Given the description of an element on the screen output the (x, y) to click on. 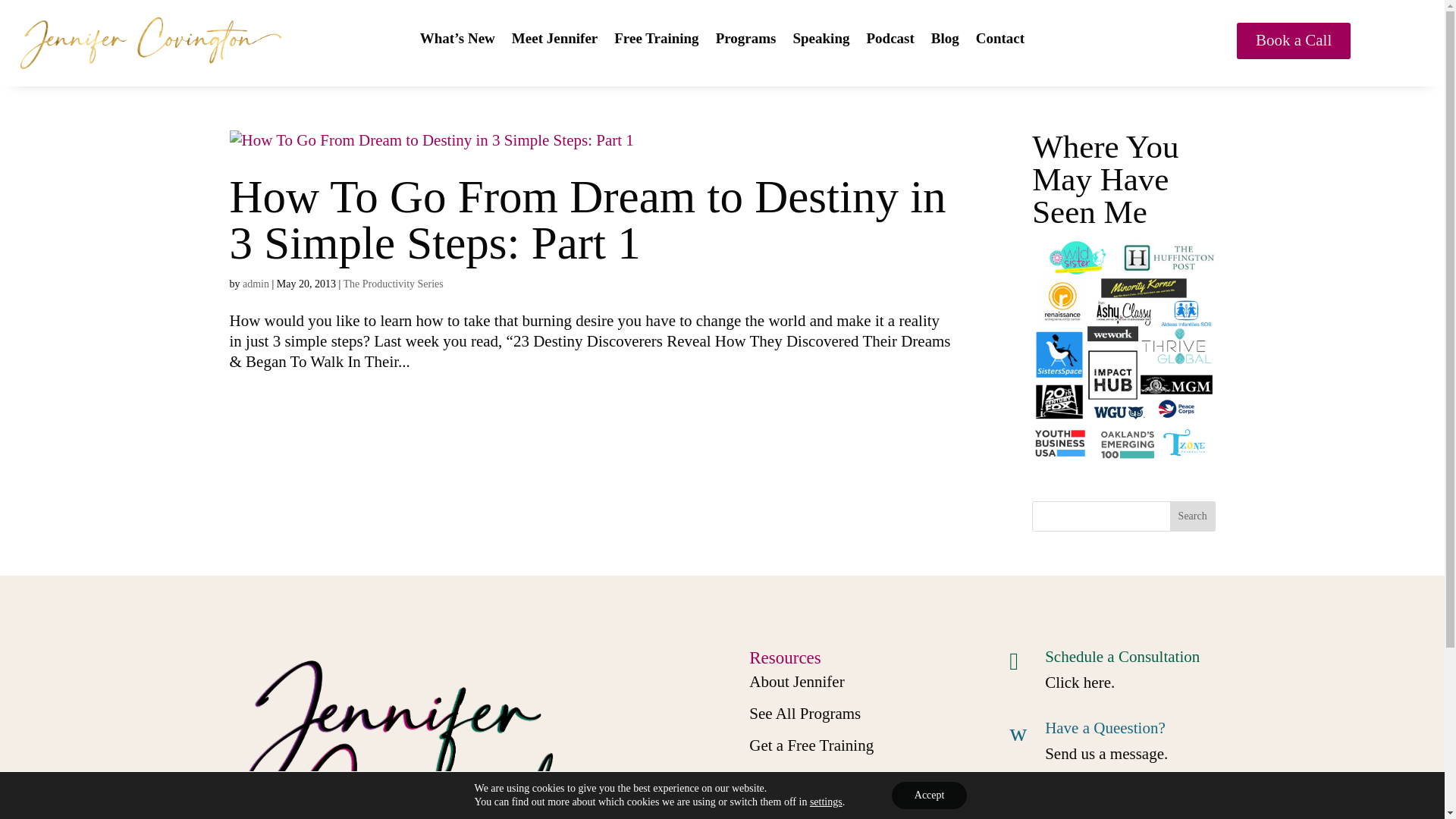
Speaking (820, 41)
Book a Call (1293, 40)
Have a Queestion? (1105, 728)
Posts by admin (256, 283)
Blog (945, 41)
w (1021, 732)
Contact (1000, 41)
Read the Blog (794, 777)
Free Training (656, 41)
The Productivity Series (393, 283)
How To Go From Dream to Destiny in 3 Simple Steps: Part 1 (586, 219)
Schedule a Consultation (1122, 656)
Search (1192, 516)
Logo Gold (150, 43)
admin (256, 283)
